Given the description of an element on the screen output the (x, y) to click on. 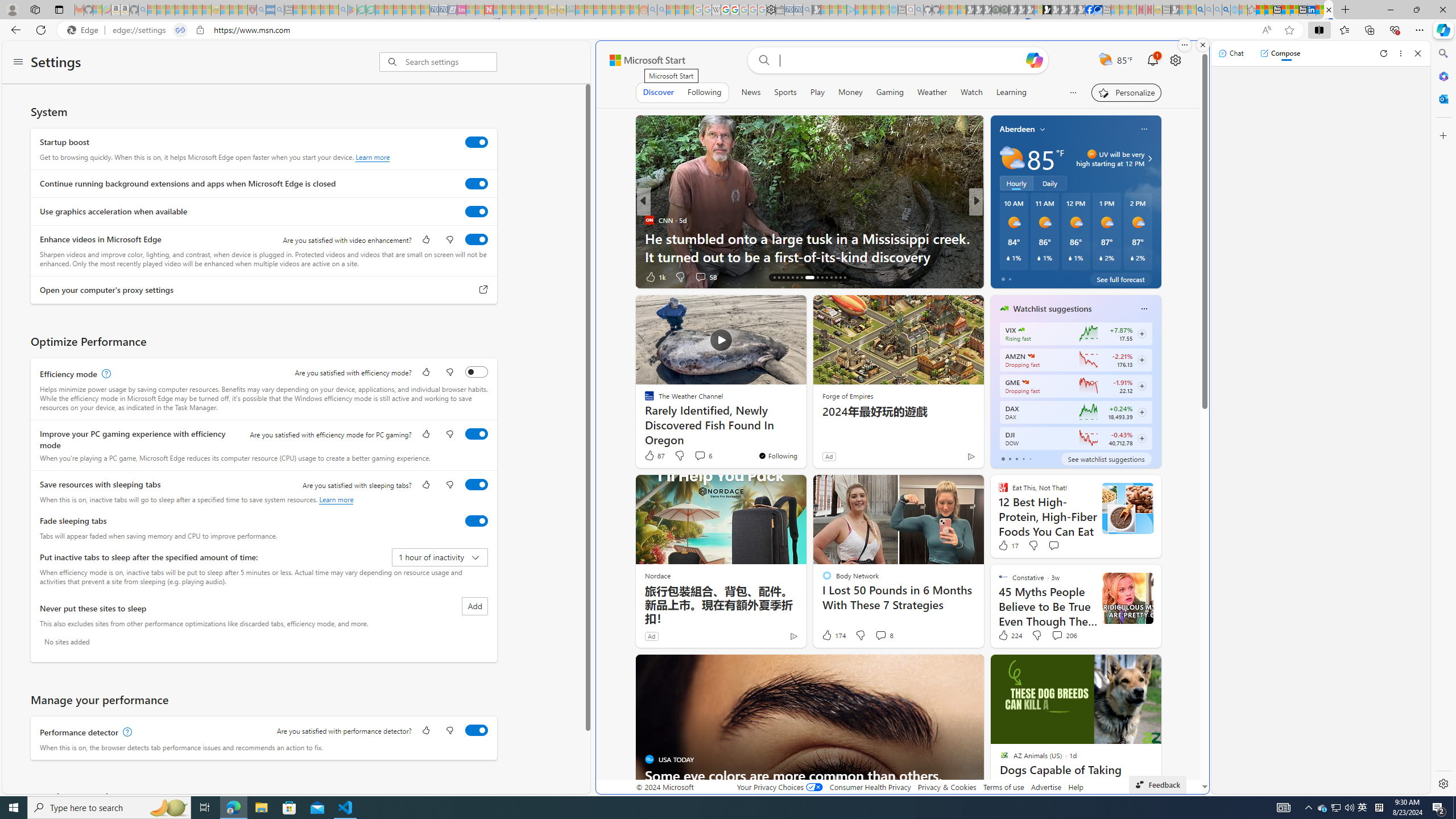
View comments 142 Comment (707, 276)
Terms of use (1003, 786)
How to deep clean your body (1159, 256)
Latest Politics News & Archive | Newsweek.com - Sleeping (488, 9)
Skip to content (642, 59)
174 Like (833, 634)
